Given the description of an element on the screen output the (x, y) to click on. 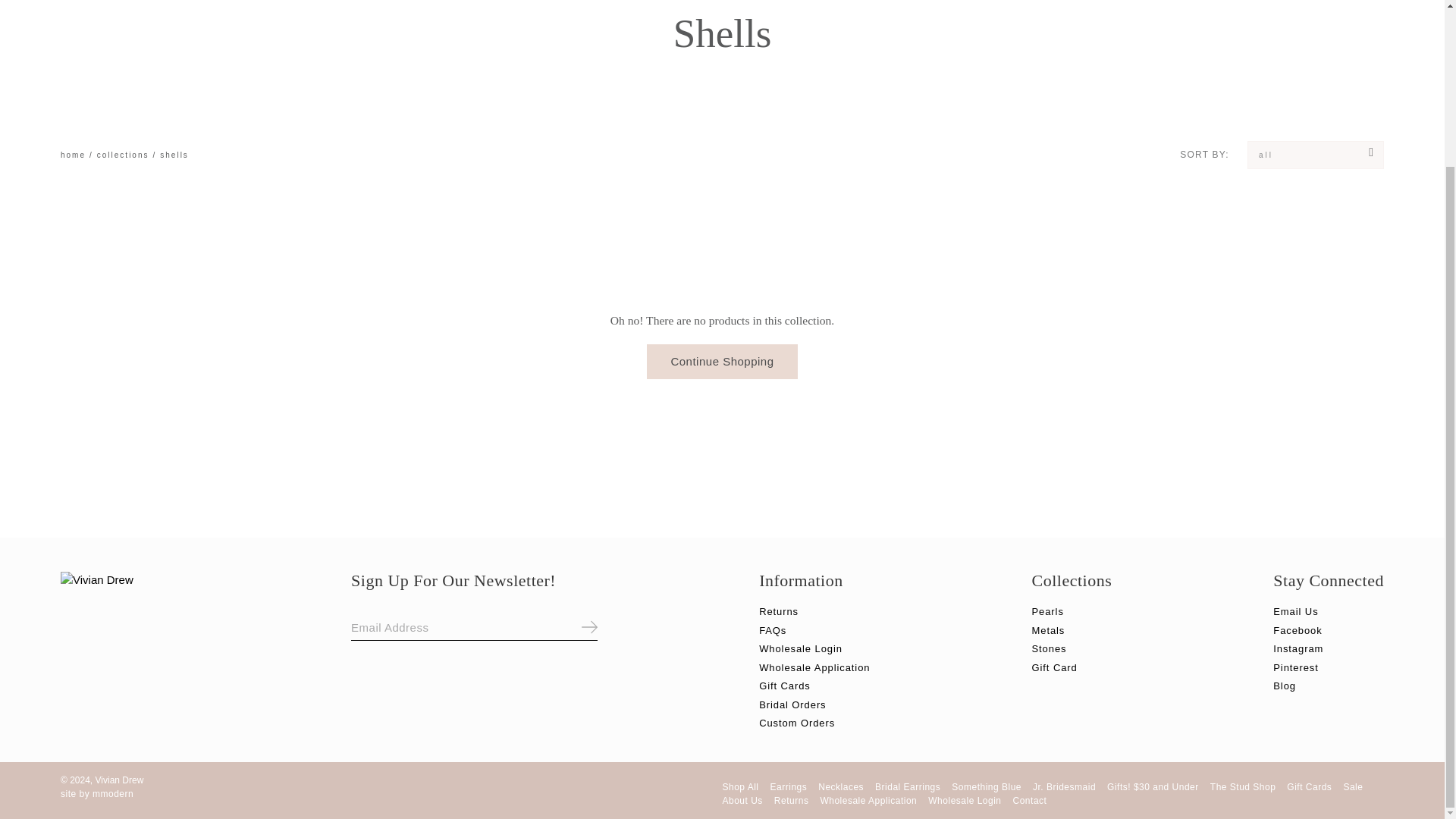
Back to the Homepage (73, 154)
